Given the description of an element on the screen output the (x, y) to click on. 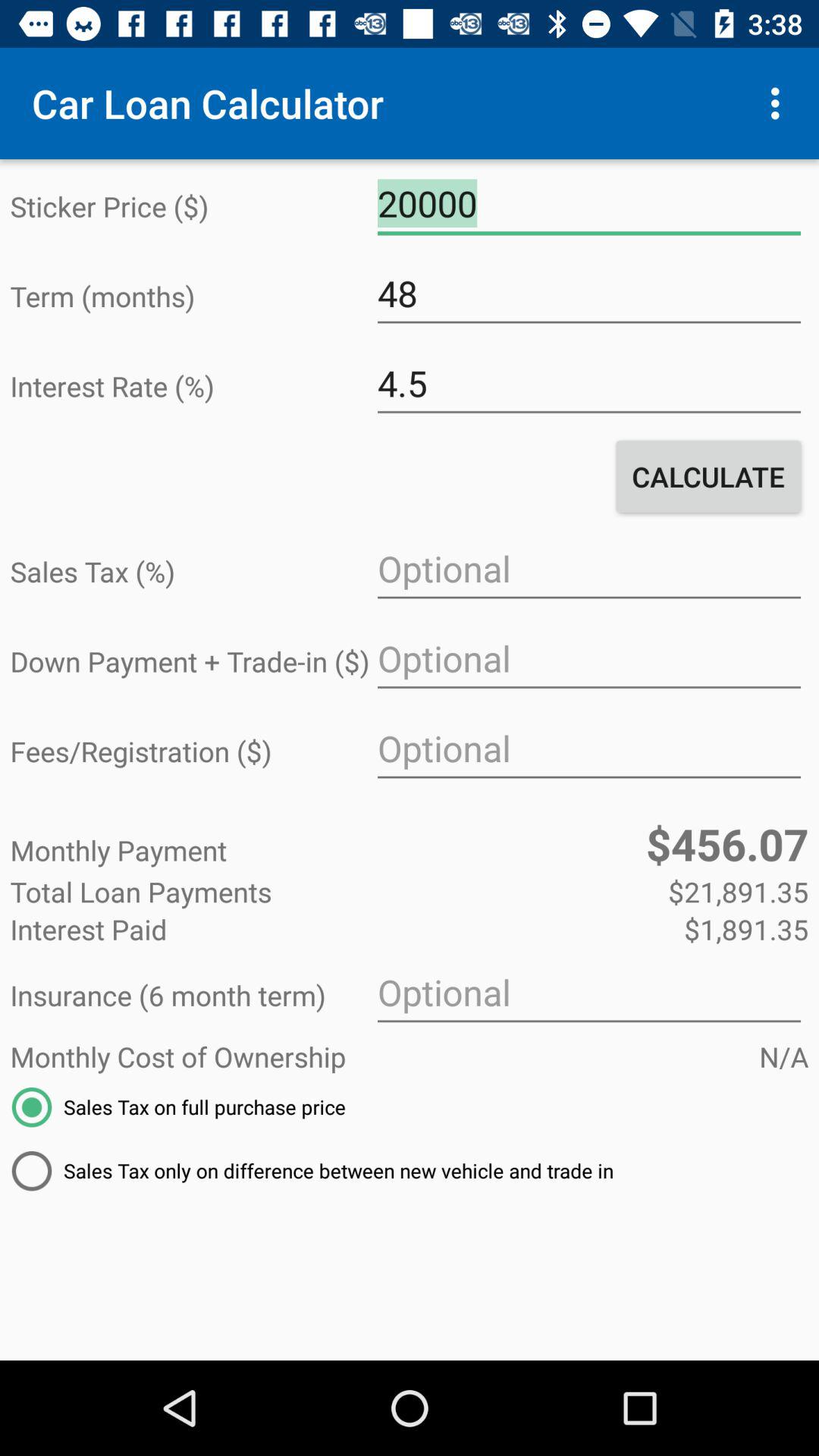
turn on the icon next to sticker price ($) icon (588, 204)
